Given the description of an element on the screen output the (x, y) to click on. 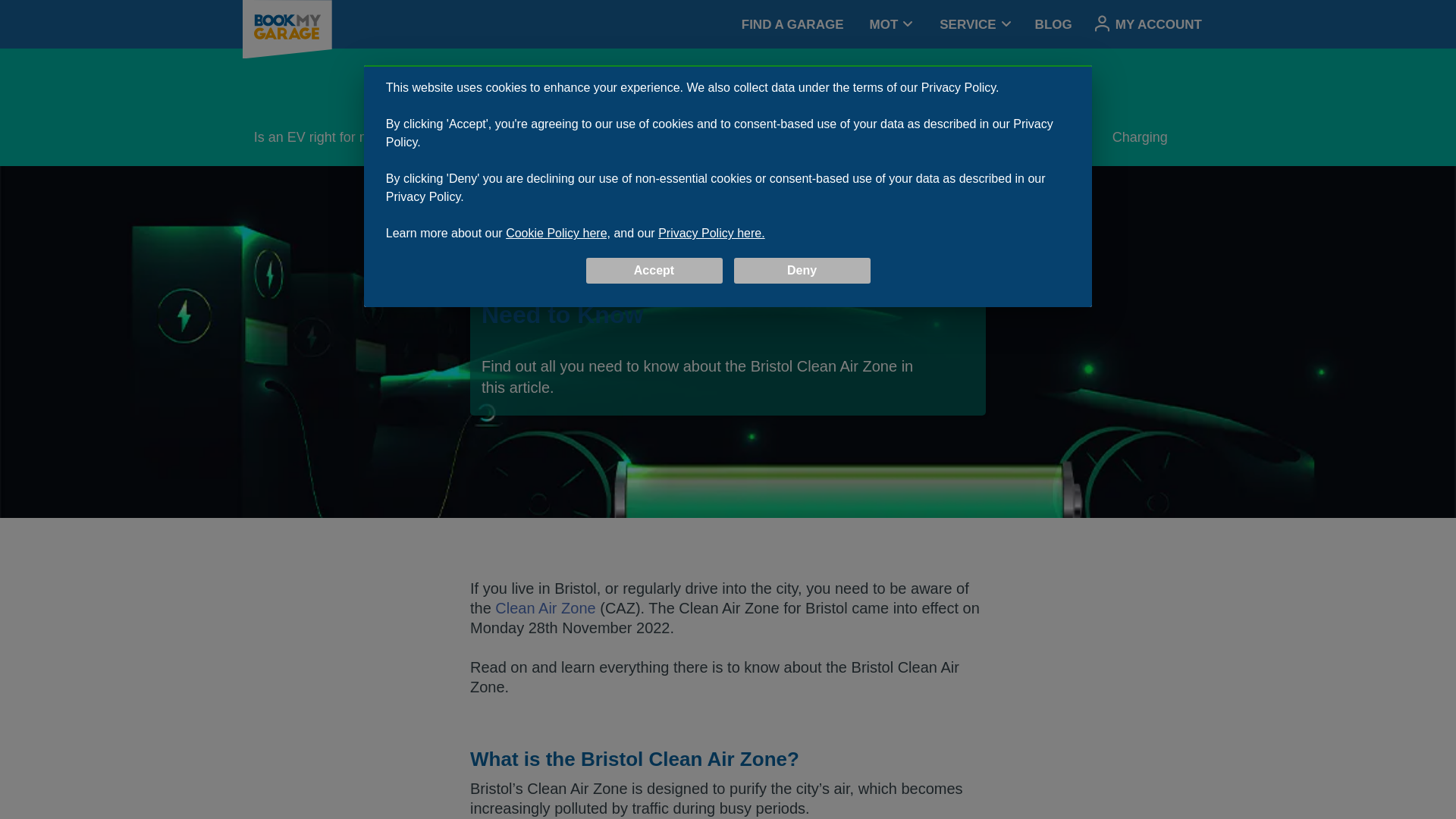
FIND A GARAGE (792, 24)
Learn more about our cookie policy (557, 232)
BookMyGarage Logo (287, 29)
Learn more about our privacy policy (727, 23)
